Given the description of an element on the screen output the (x, y) to click on. 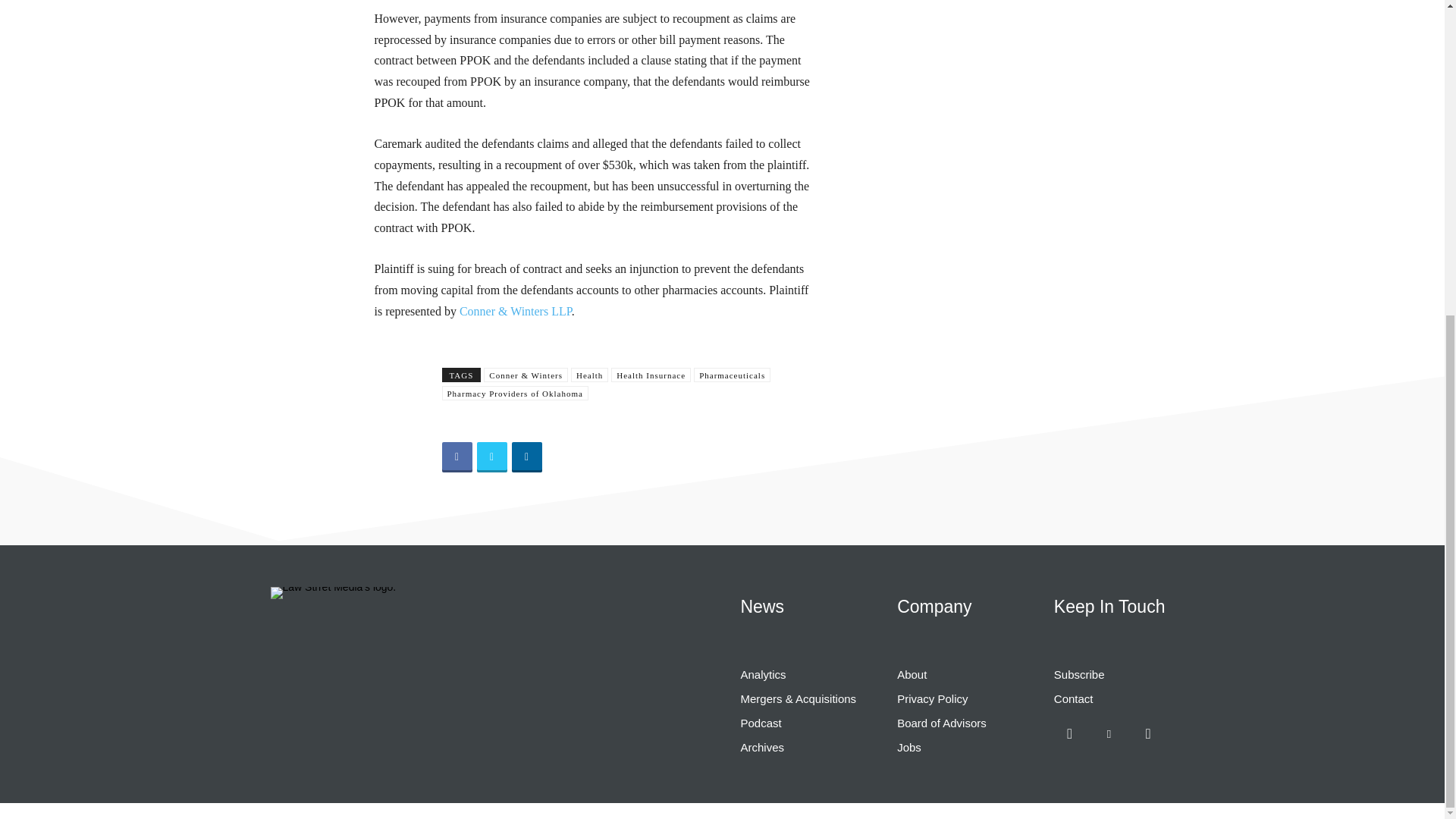
Linkedin (526, 457)
Linkedin (1109, 734)
Facebook (1070, 734)
Health (589, 374)
Facebook (456, 457)
Health Insurnace (650, 374)
LawStreetMediaLogo (332, 592)
Twitter (491, 457)
